Given the description of an element on the screen output the (x, y) to click on. 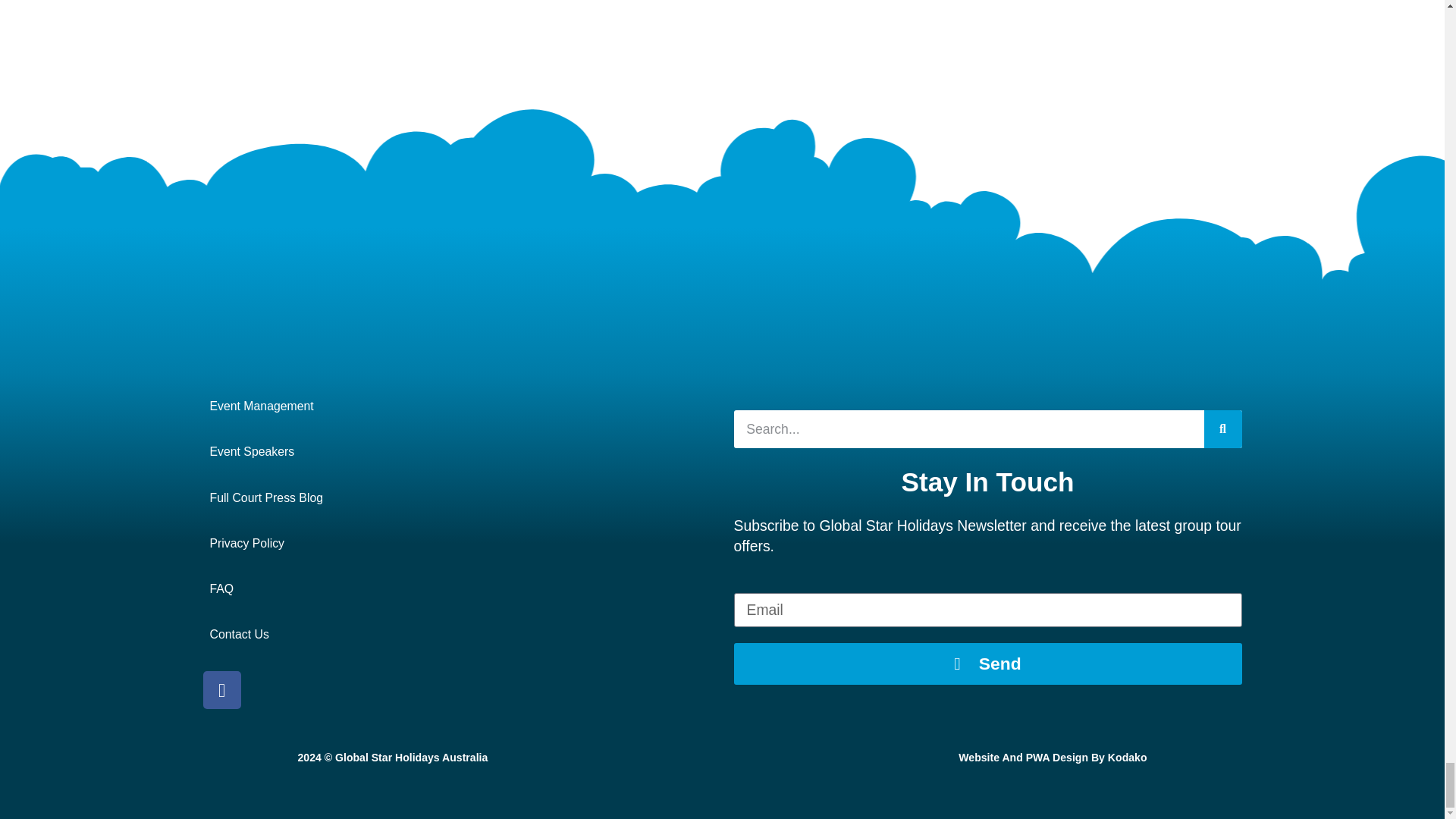
Full Court Press Blog (457, 497)
FAQ (457, 589)
Privacy Policy (457, 543)
Event Speakers (457, 451)
Event Management (457, 405)
